Given the description of an element on the screen output the (x, y) to click on. 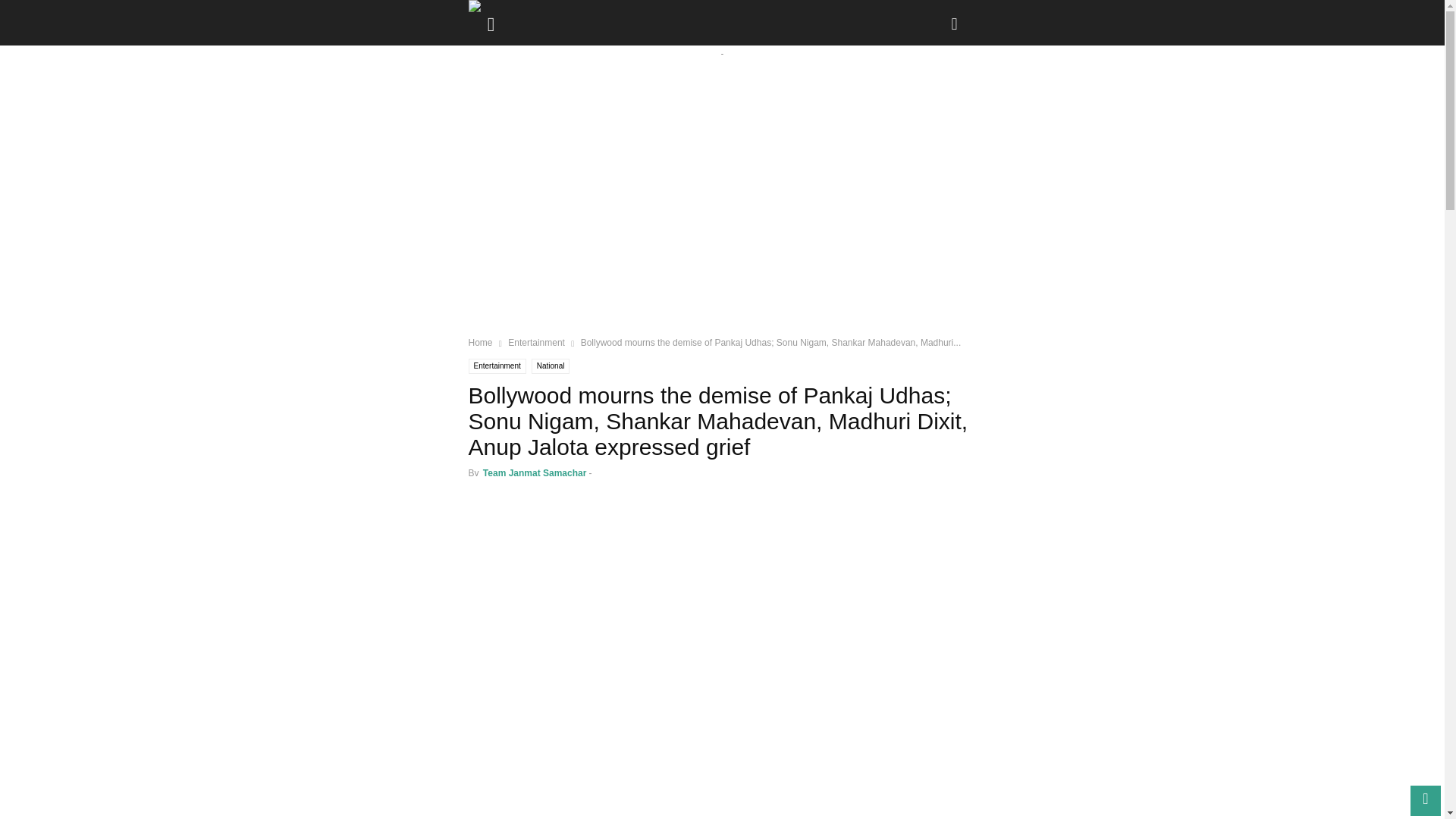
Entertainment (536, 342)
National (550, 365)
Entertainment (496, 365)
View all posts in Entertainment (536, 342)
Team Janmat Samachar (534, 472)
Home (480, 342)
